Given the description of an element on the screen output the (x, y) to click on. 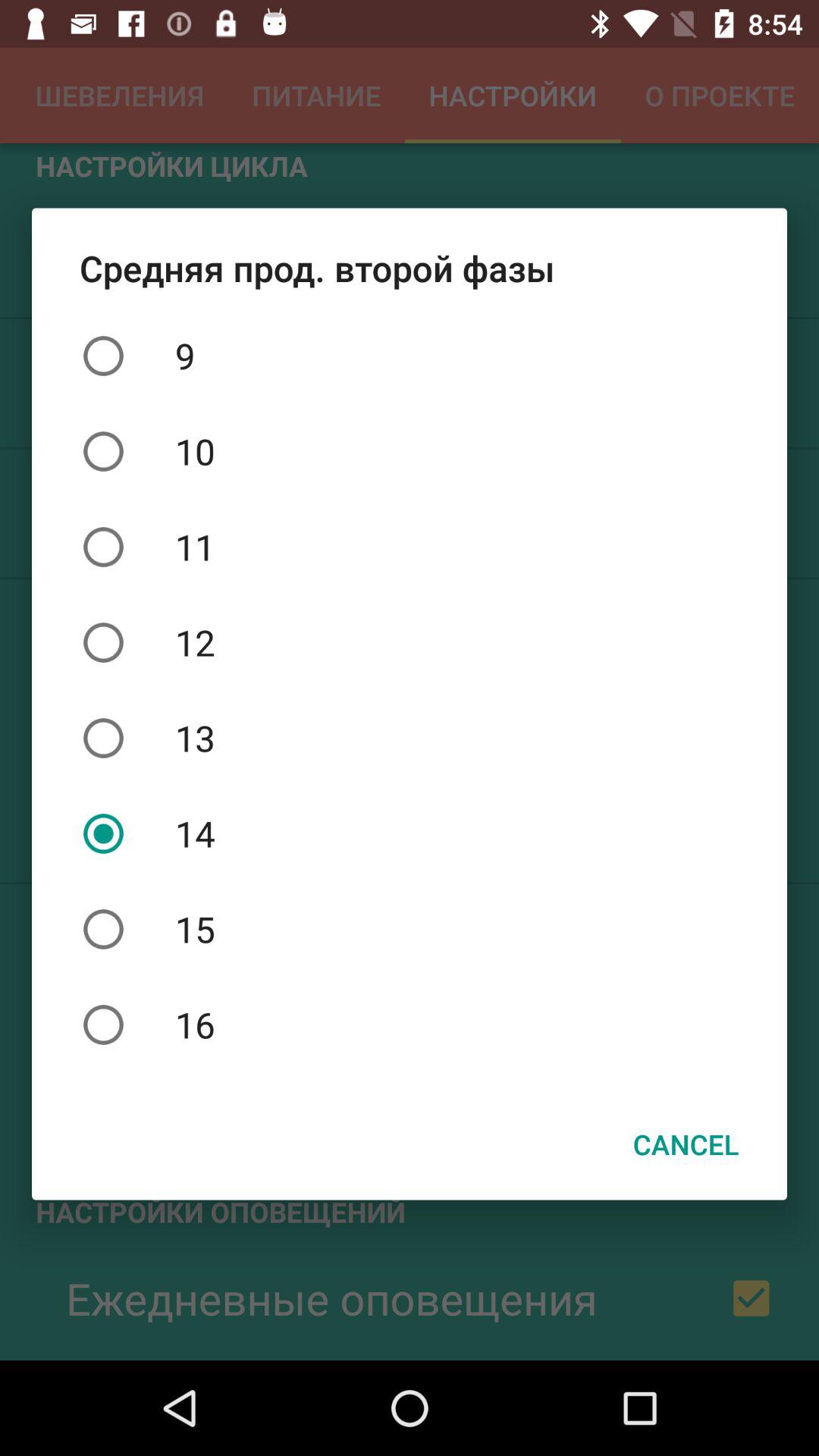
swipe to the 12 item (409, 642)
